Given the description of an element on the screen output the (x, y) to click on. 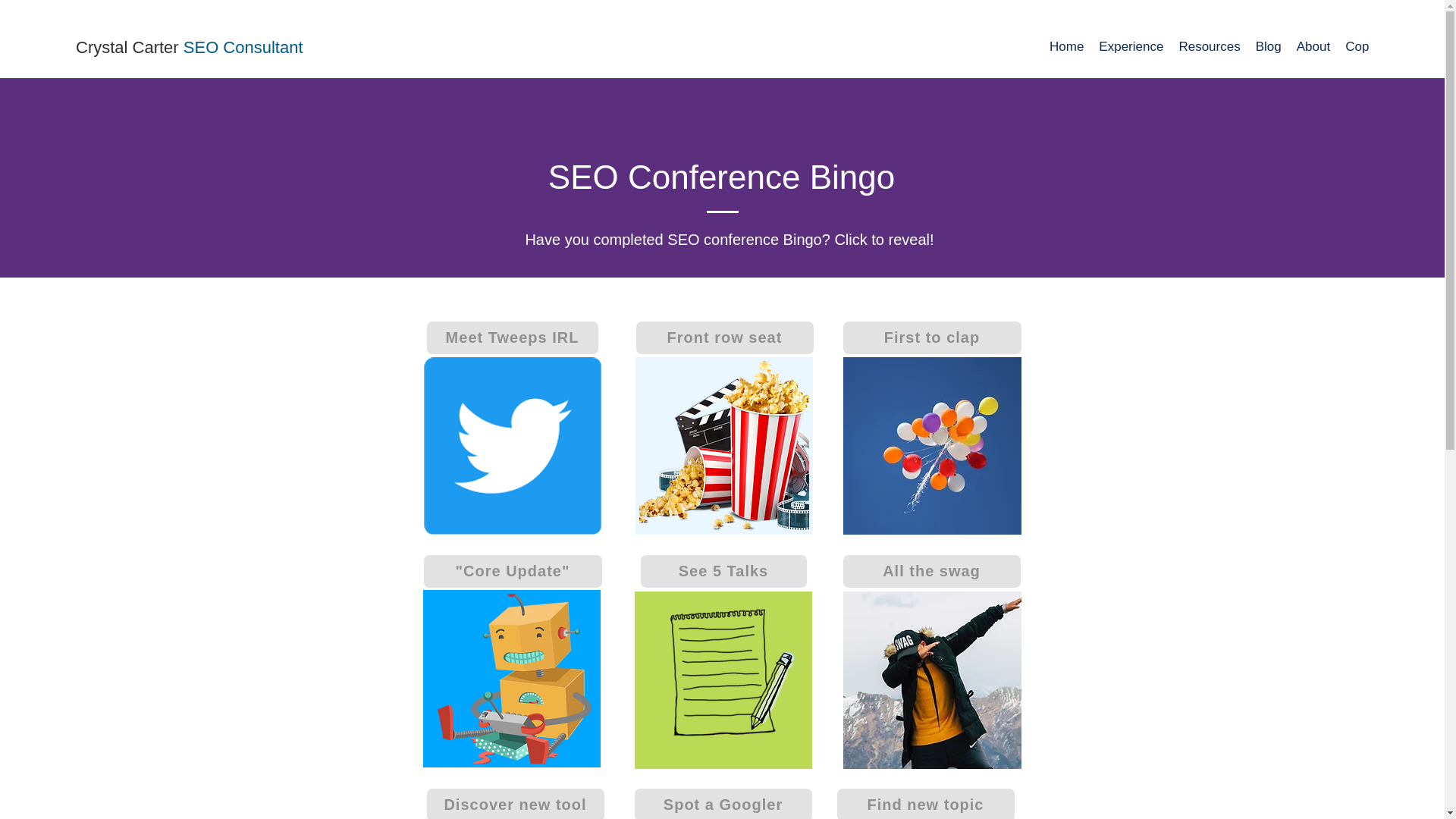
Twitter (721, 680)
Blog (1267, 48)
Copy of About (1386, 48)
Twitter (932, 445)
Meet Tweeps IRL (511, 337)
Twitter (723, 445)
Crystal Carter SEO Consultant (188, 46)
Home (1066, 48)
First to clap (932, 337)
Front row seat (723, 337)
